Given the description of an element on the screen output the (x, y) to click on. 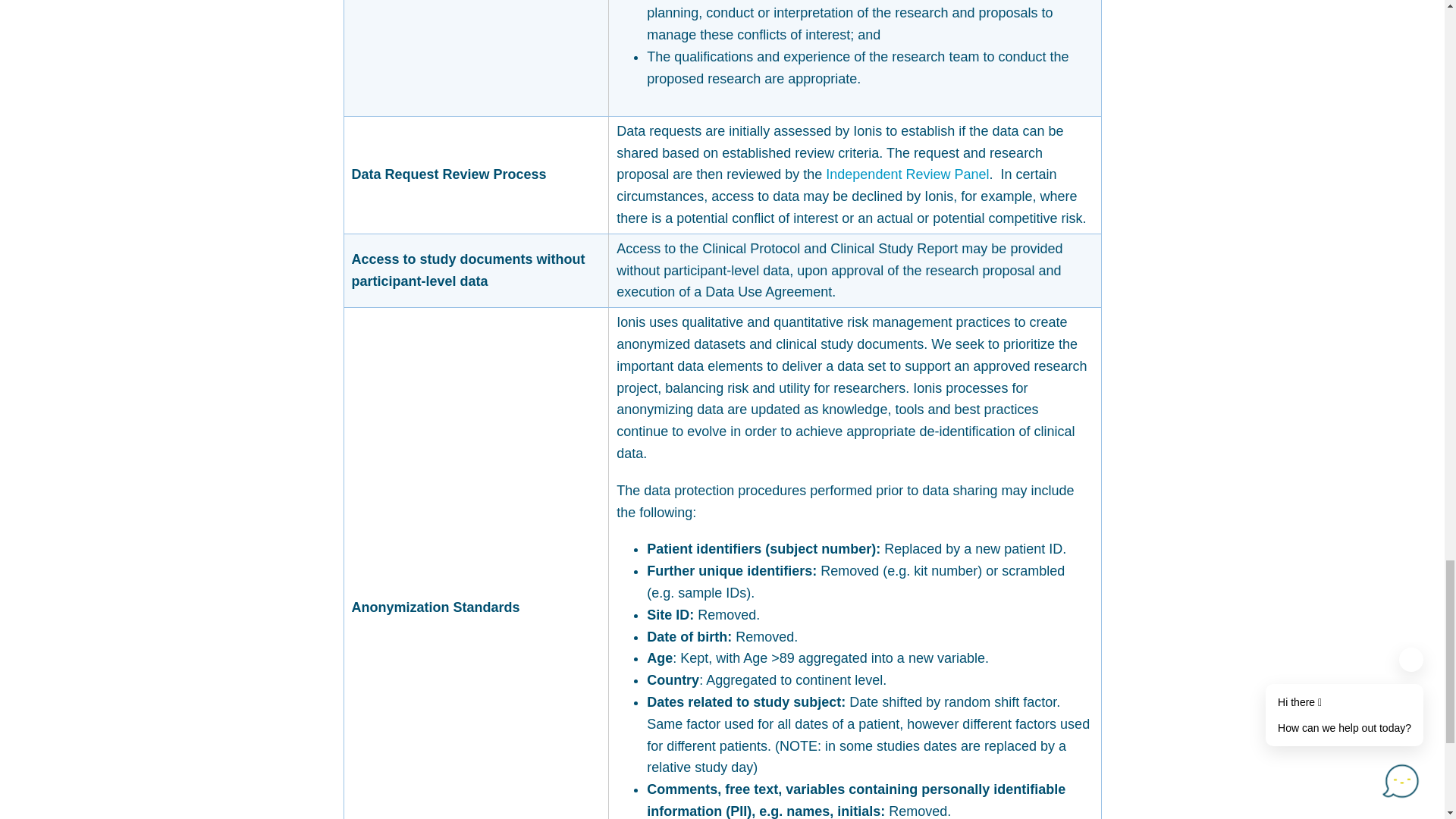
Independent Review Panel (906, 174)
